Given the description of an element on the screen output the (x, y) to click on. 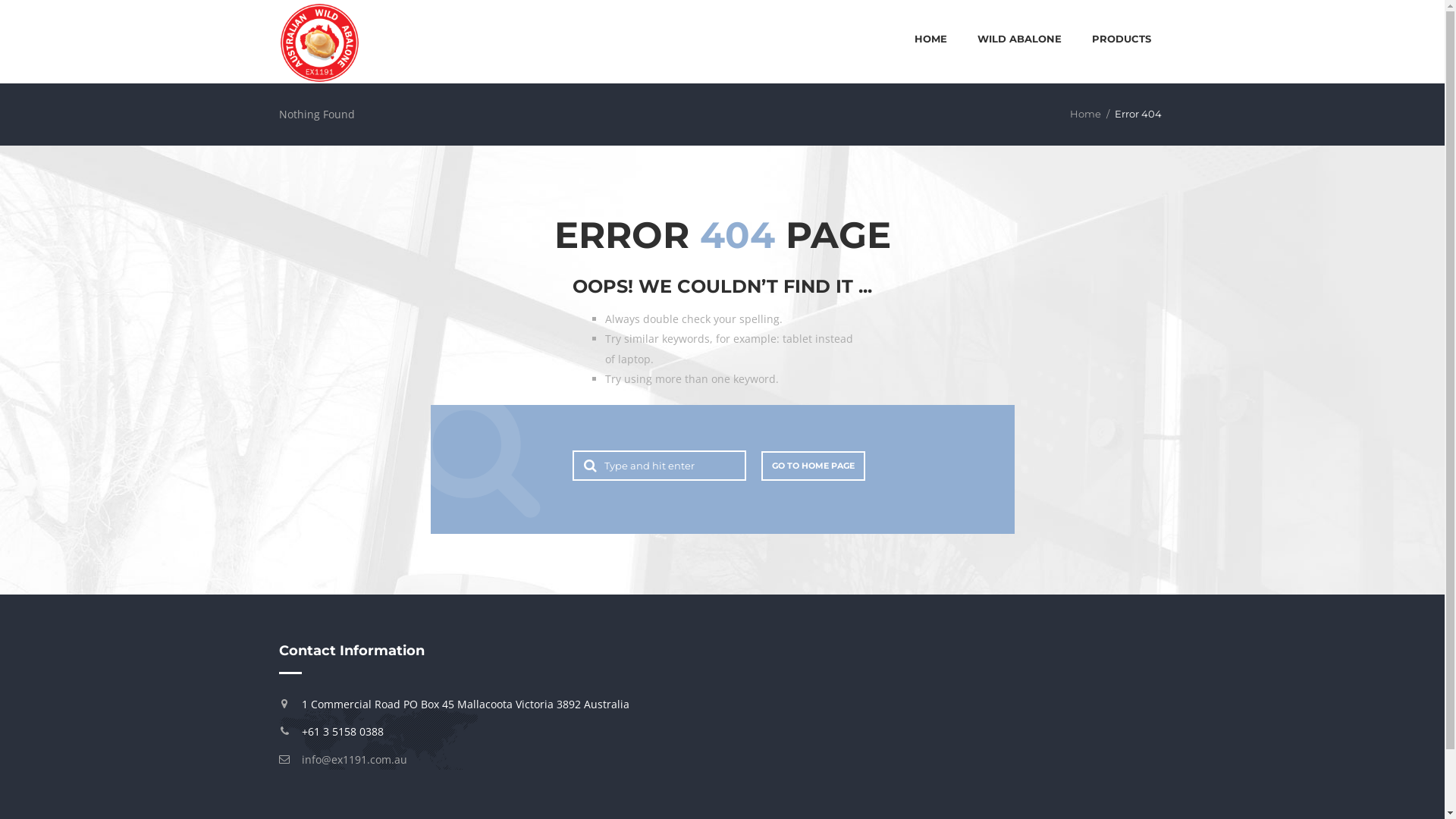
info@ex1191.com.au Element type: text (354, 759)
PRODUCTS Element type: text (1121, 40)
HOME Element type: text (930, 40)
Home Element type: text (1084, 113)
WILD ABALONE Element type: text (1018, 40)
GO TO HOME PAGE Element type: text (813, 465)
